Given the description of an element on the screen output the (x, y) to click on. 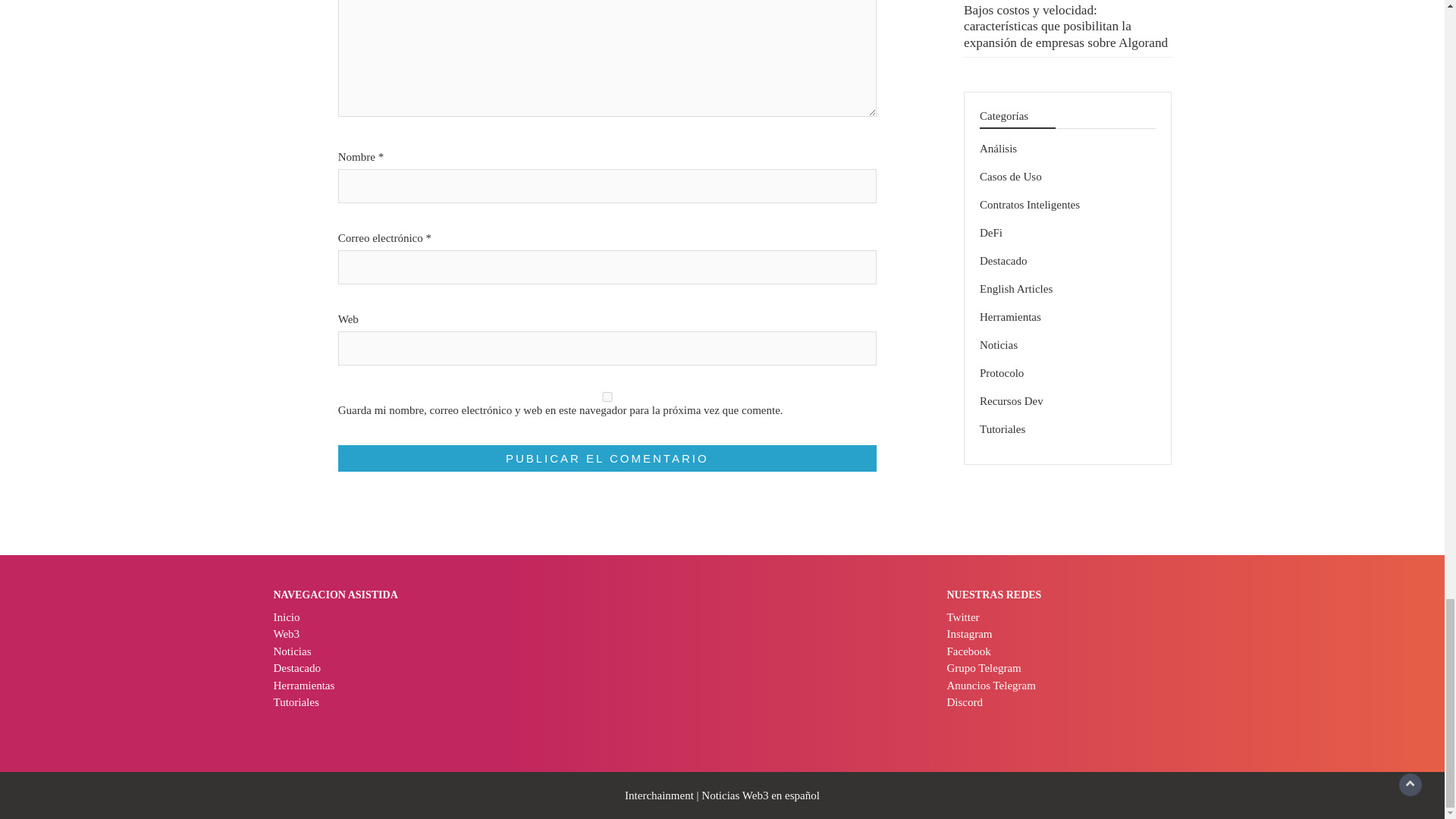
yes (606, 397)
Publicar el comentario (606, 458)
Publicar el comentario (606, 458)
